Given the description of an element on the screen output the (x, y) to click on. 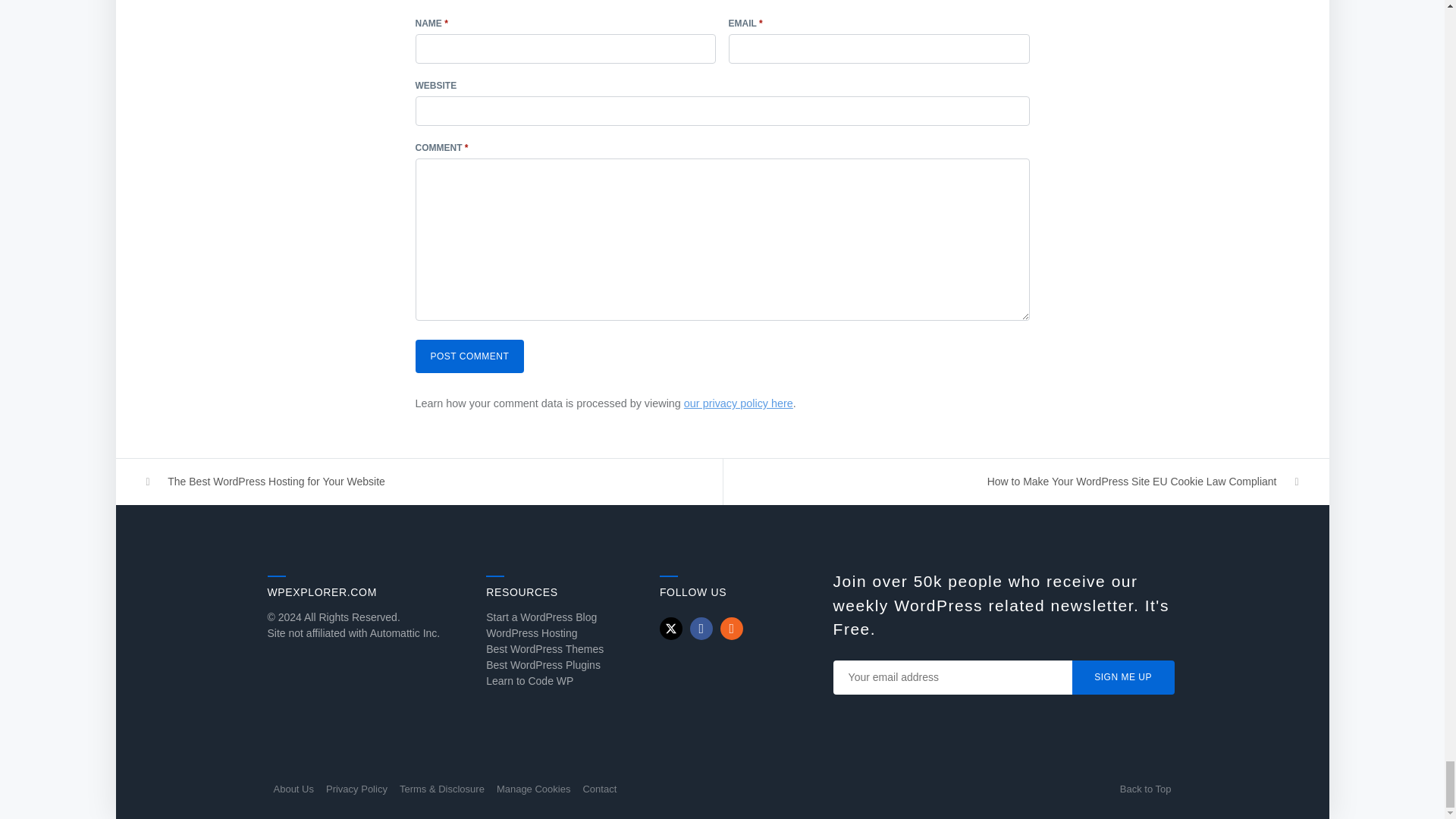
Back to Top (1145, 789)
WordPress Hosting (531, 633)
How to Make Your WordPress Site EU Cookie Law Compliant (1026, 481)
Best WordPress Plugins (542, 664)
Start a WordPress Blog (541, 616)
our privacy policy here (738, 403)
Post Comment (469, 356)
Follow WPExplorer on Twitter (670, 628)
Subscribe to the WPExplorer Feed (731, 628)
Learn to Code WP (529, 680)
